Given the description of an element on the screen output the (x, y) to click on. 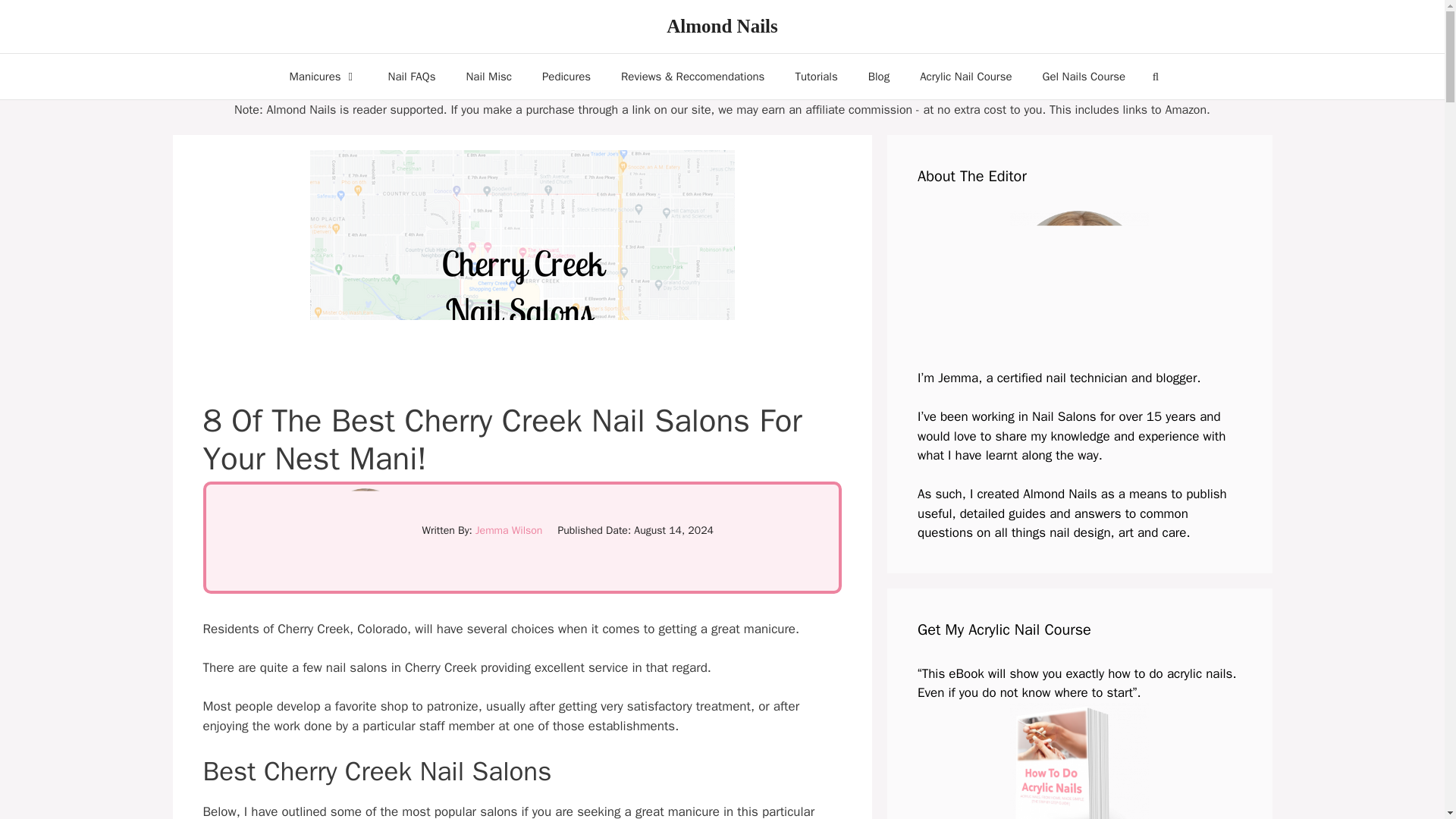
Almond Nails (721, 25)
Gel Nails Course (1084, 76)
Blog (878, 76)
Jemma Wilson (508, 530)
Tutorials (814, 76)
Manicures (323, 76)
Acrylic Nail Course (965, 76)
Pedicures (566, 76)
Nail Misc (488, 76)
Nail FAQs (411, 76)
